Given the description of an element on the screen output the (x, y) to click on. 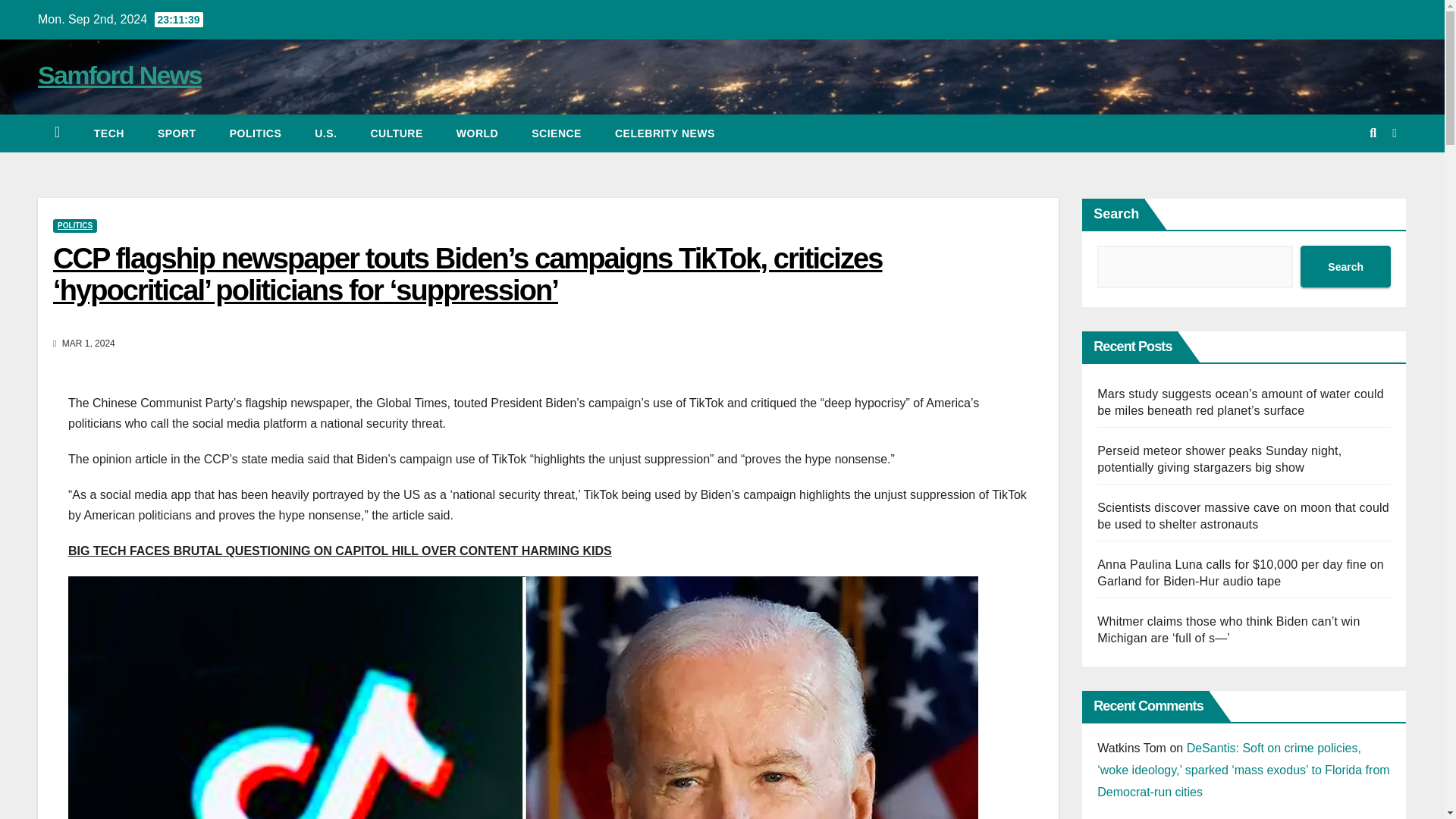
TECH (109, 133)
CULTURE (396, 133)
U.S. (325, 133)
U.S. (325, 133)
POLITICS (74, 225)
SPORT (176, 133)
WORLD (477, 133)
Search (1345, 266)
Sport (176, 133)
Samford News (119, 74)
